Given the description of an element on the screen output the (x, y) to click on. 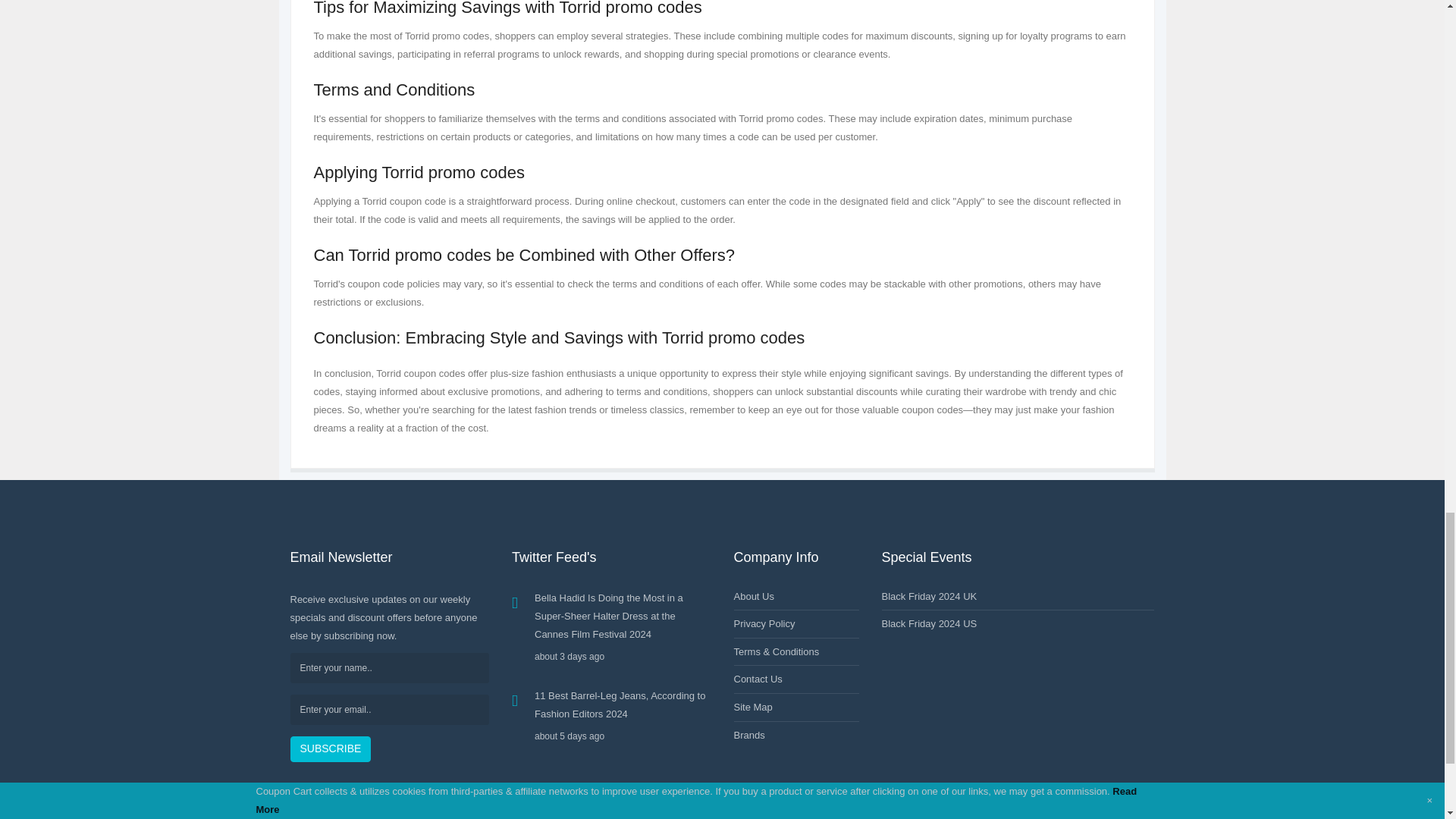
Privacy Policy (763, 623)
Site Map (753, 706)
Brands (749, 735)
about 3 days ago (622, 656)
about 5 days ago (622, 736)
Contact Us (758, 678)
Black Friday 2024 UK (928, 595)
About Us (753, 595)
SUBSCRIBE (330, 749)
Black Friday 2024 US (928, 623)
